Given the description of an element on the screen output the (x, y) to click on. 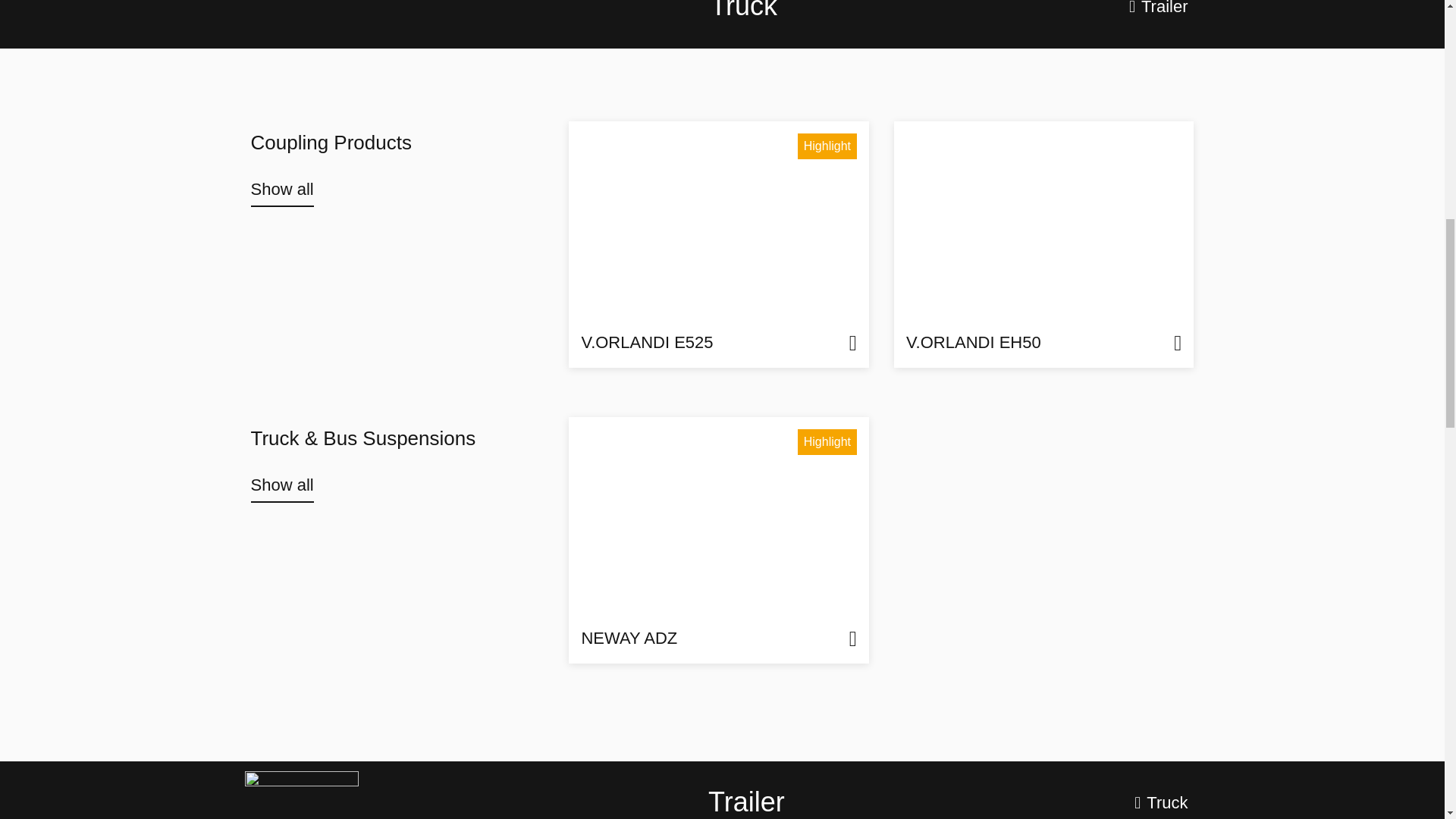
V.ORLANDI E525 (719, 244)
V.ORLANDI EH50 (1043, 244)
NEWAY ADZ (719, 539)
